Given the description of an element on the screen output the (x, y) to click on. 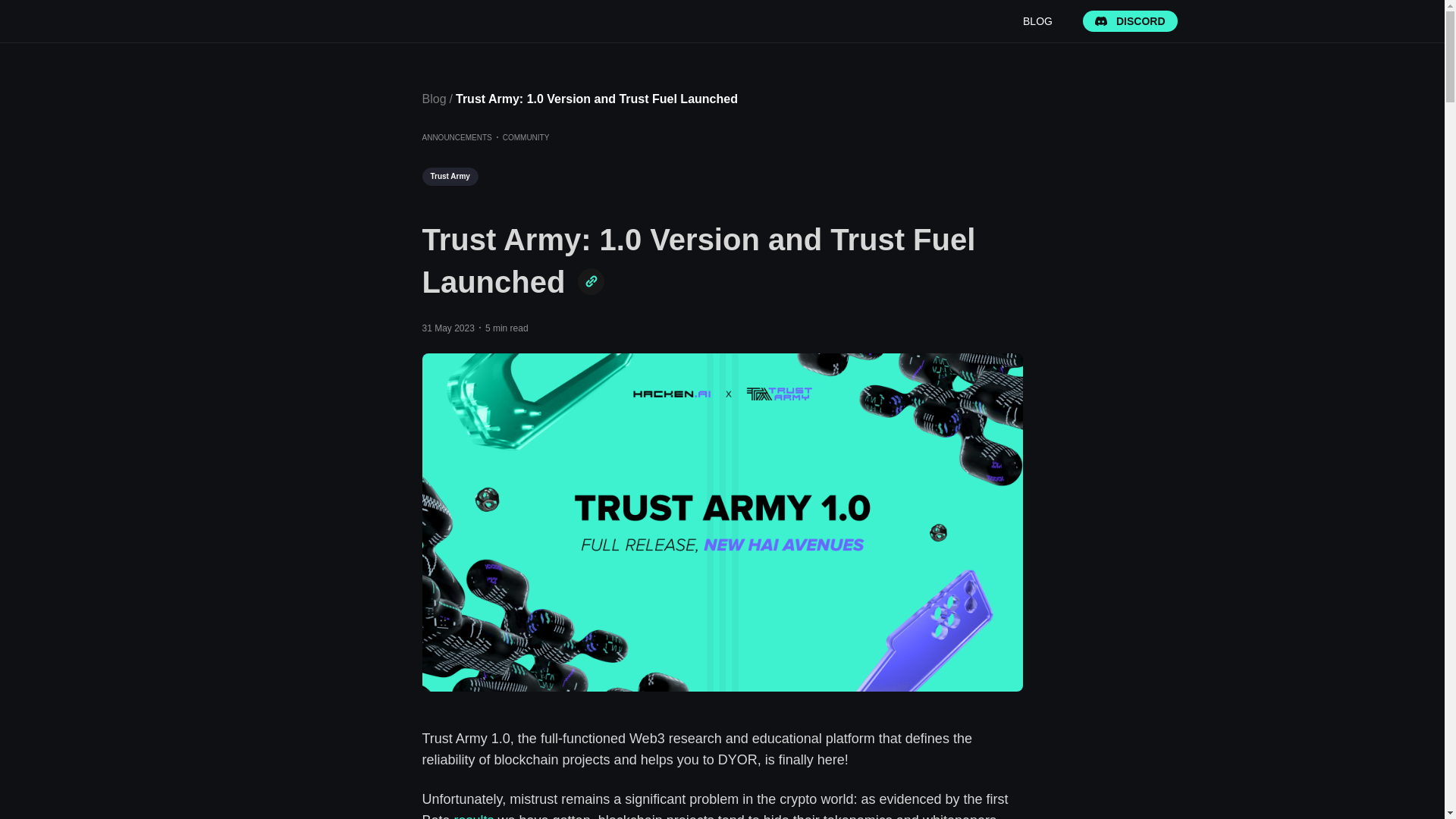
Blog (435, 98)
Trust Army (449, 176)
DISCORD (1130, 20)
ANNOUNCEMENTS (457, 137)
BLOG (1037, 20)
COMMUNITY (526, 137)
results (474, 816)
